Given the description of an element on the screen output the (x, y) to click on. 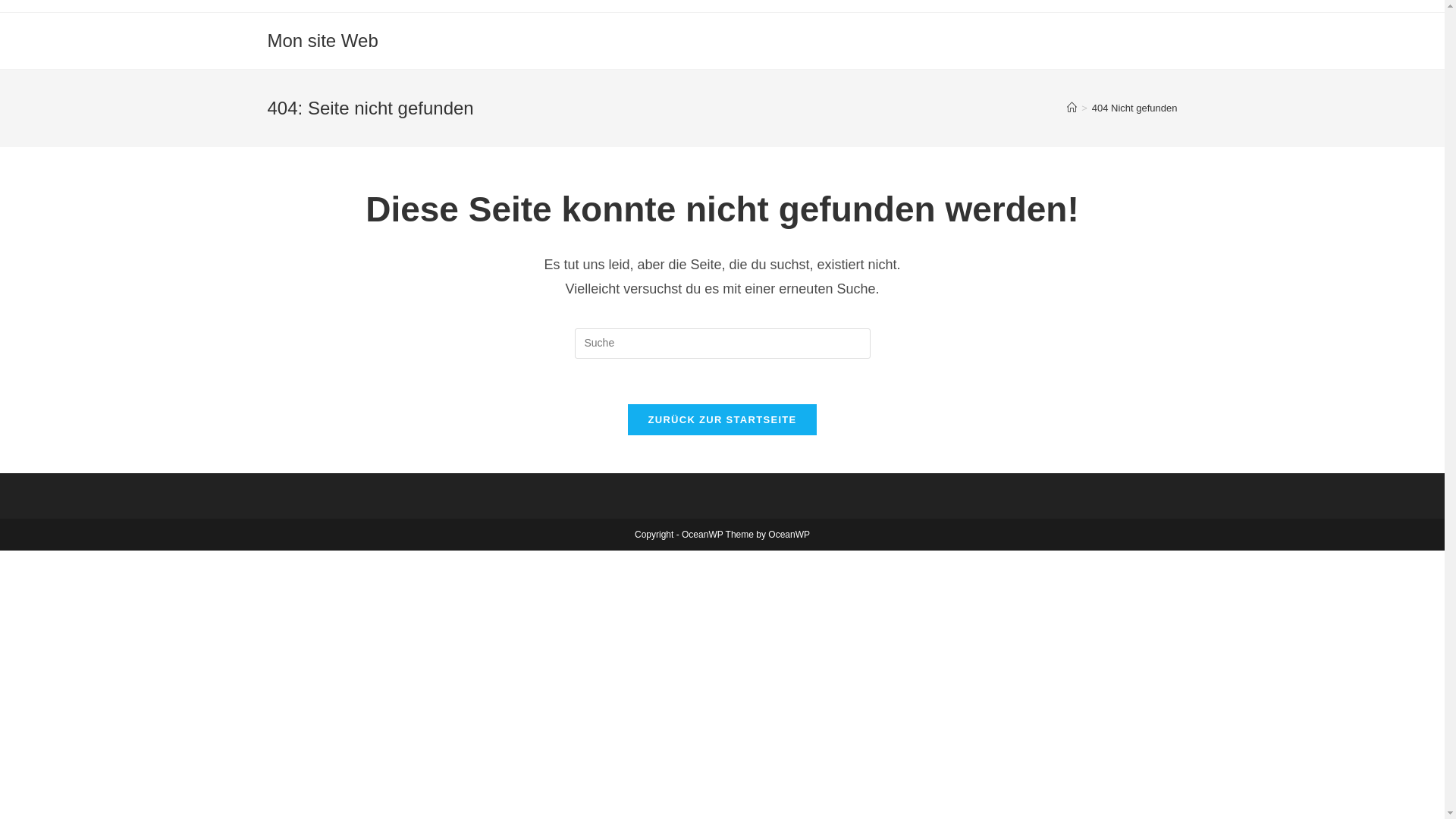
404 Nicht gefunden Element type: text (1134, 107)
Mon site Web Element type: text (321, 40)
